Given the description of an element on the screen output the (x, y) to click on. 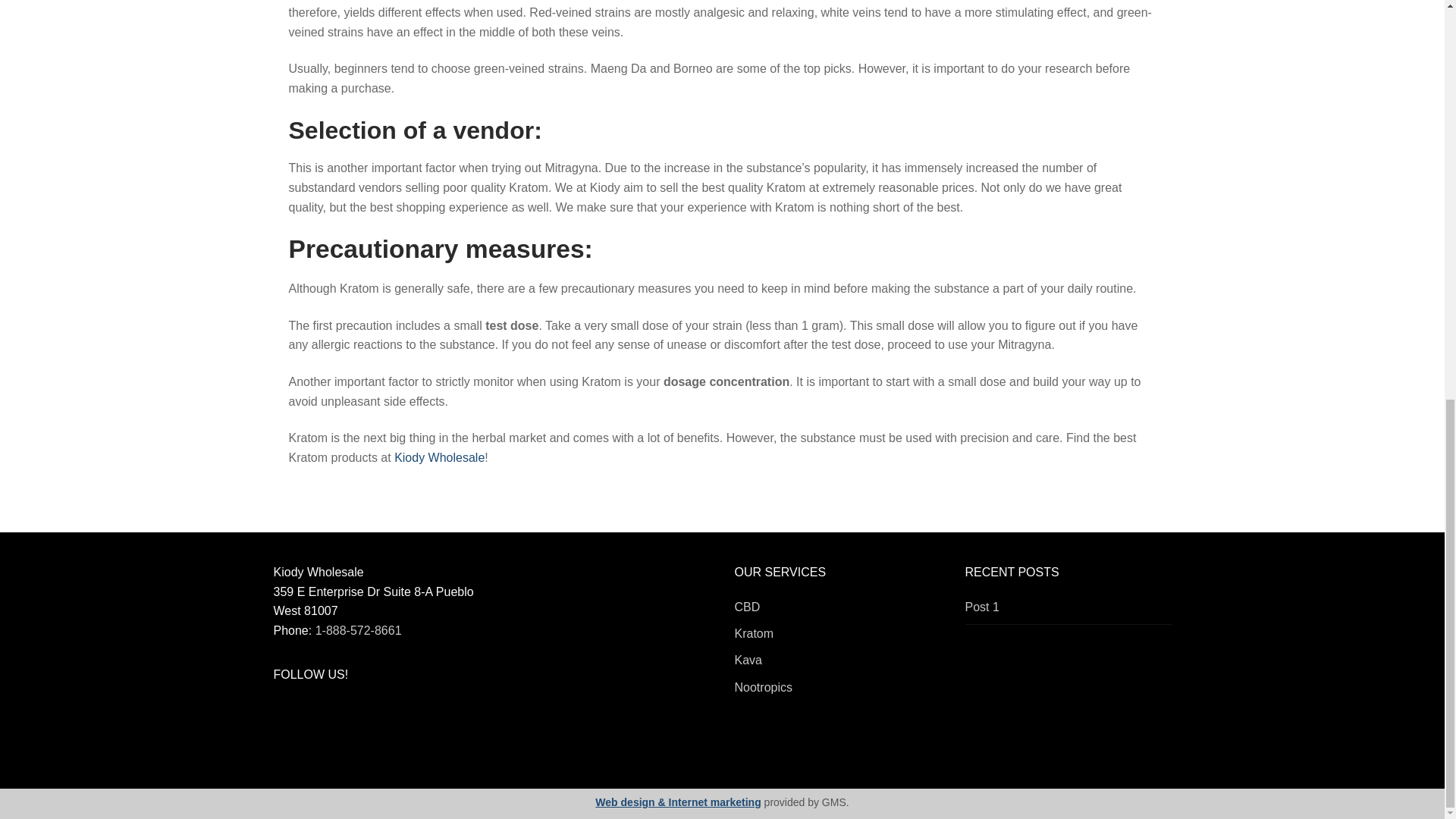
Kiody Wholesale (439, 457)
1-888-572-8661 (358, 630)
Follow Us on YouTube (316, 711)
Kratom (753, 633)
Nootropics (762, 686)
Post 1 (1066, 610)
Kava (747, 659)
Follow Us on Instagram (380, 711)
CBD (746, 605)
Follow Us on Facebook (285, 711)
